Given the description of an element on the screen output the (x, y) to click on. 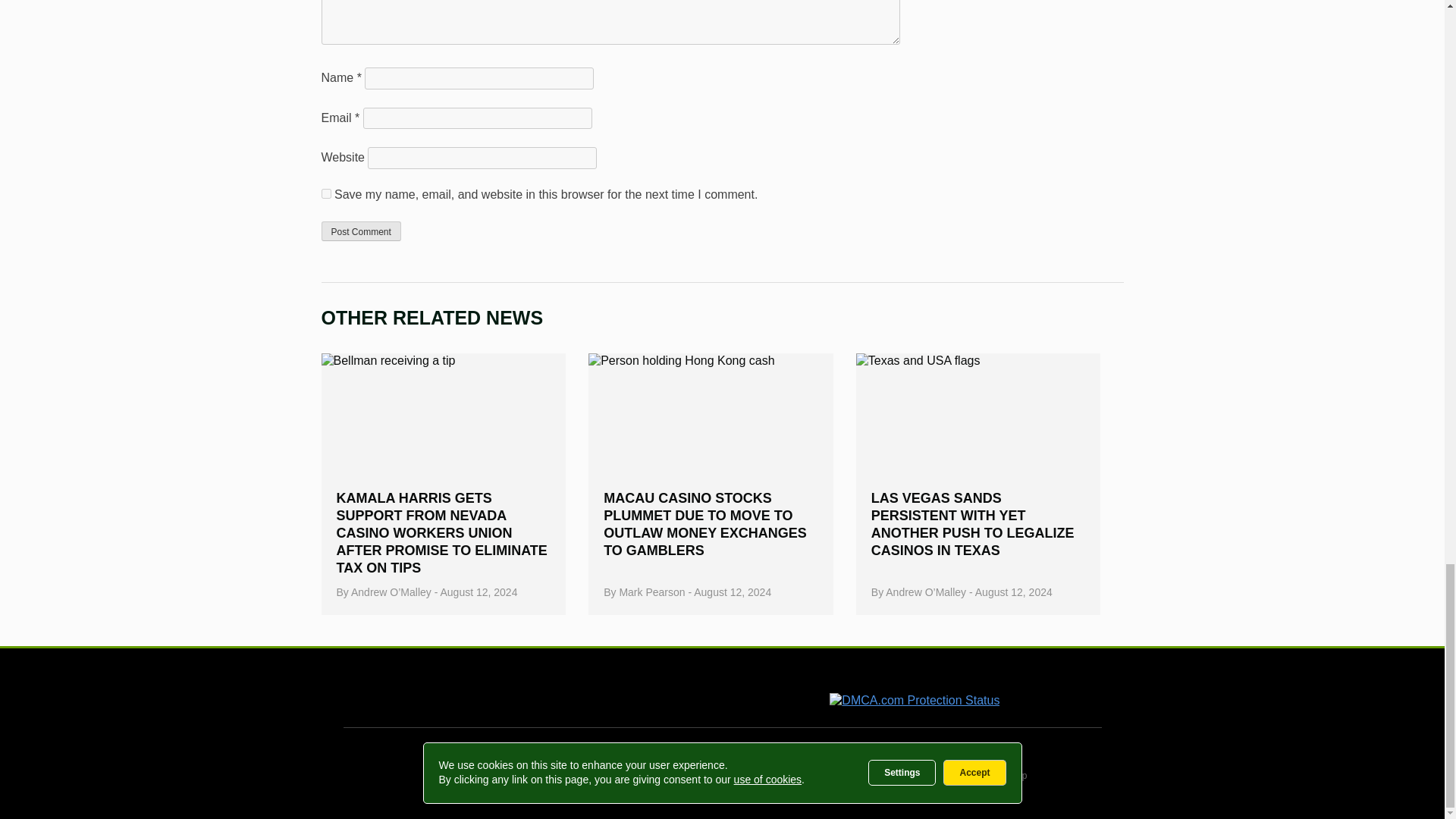
Gamcare (496, 693)
DMCA.com Protection Status (913, 699)
Post Comment (361, 230)
Post Comment (361, 230)
yes (326, 194)
Ecogra (744, 692)
Gambleaware (633, 692)
